Given the description of an element on the screen output the (x, y) to click on. 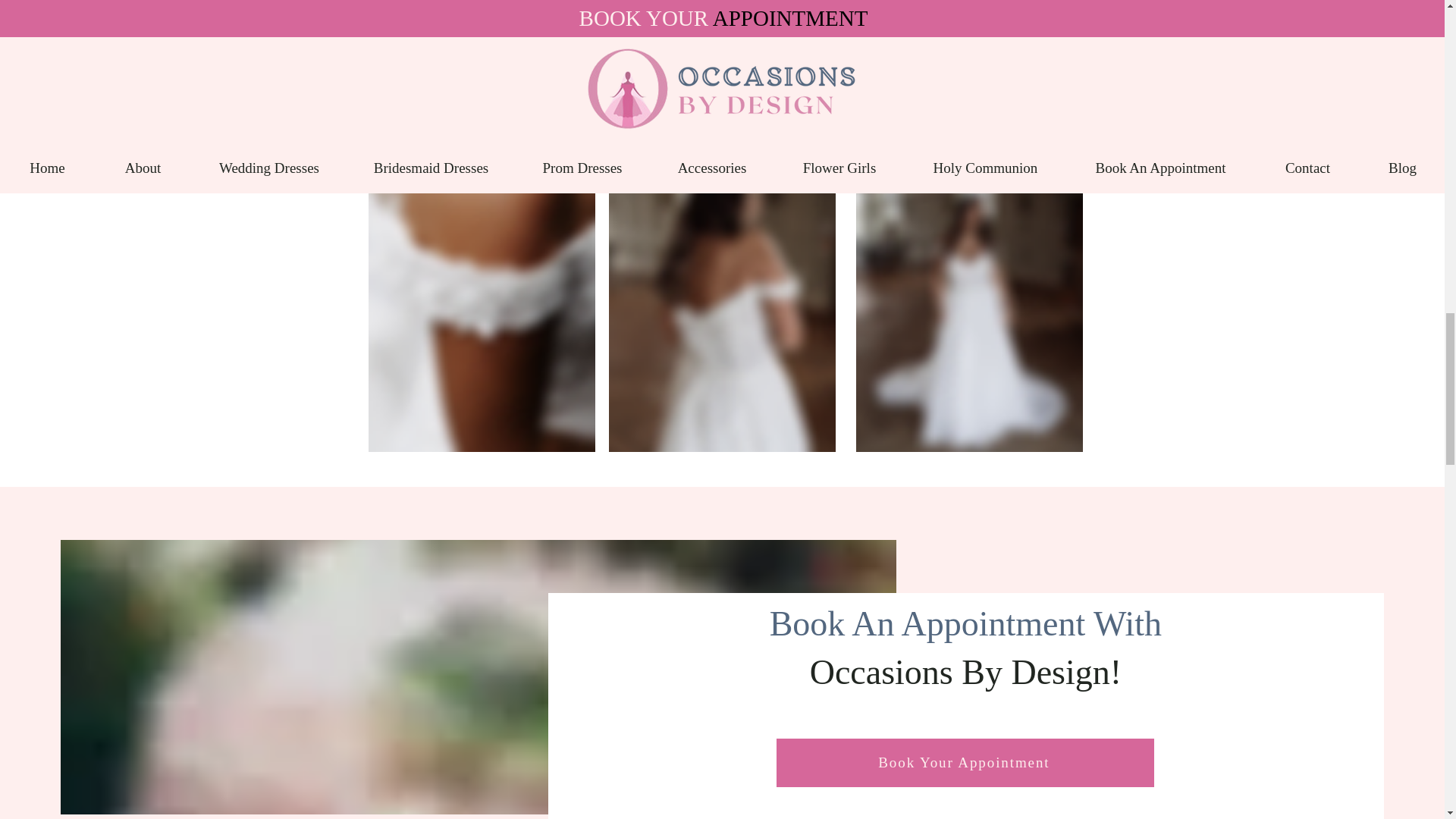
Book Your Appointment (965, 762)
